Given the description of an element on the screen output the (x, y) to click on. 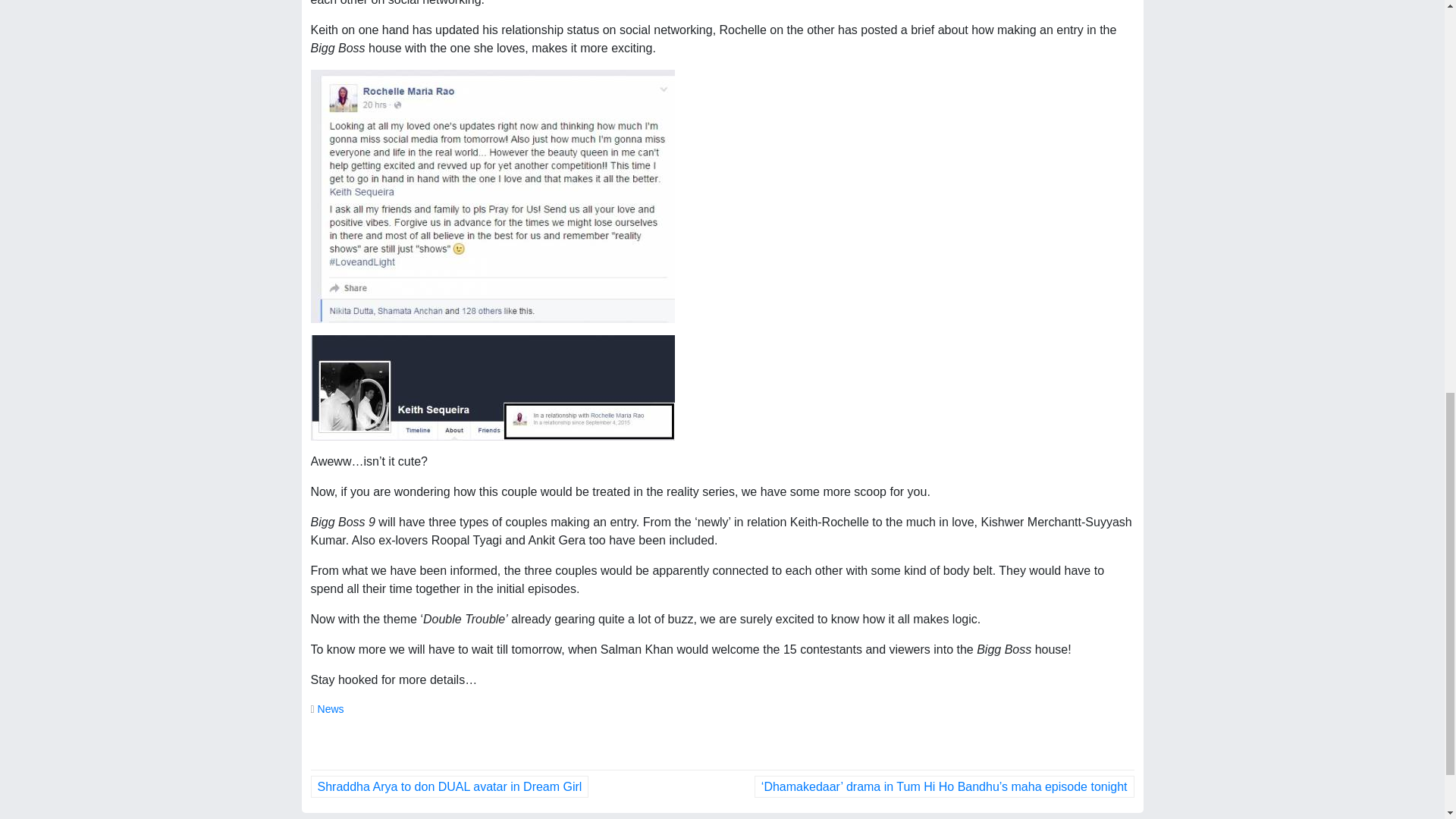
News (330, 708)
Shraddha Arya to don DUAL avatar in Dream Girl (450, 786)
